Given the description of an element on the screen output the (x, y) to click on. 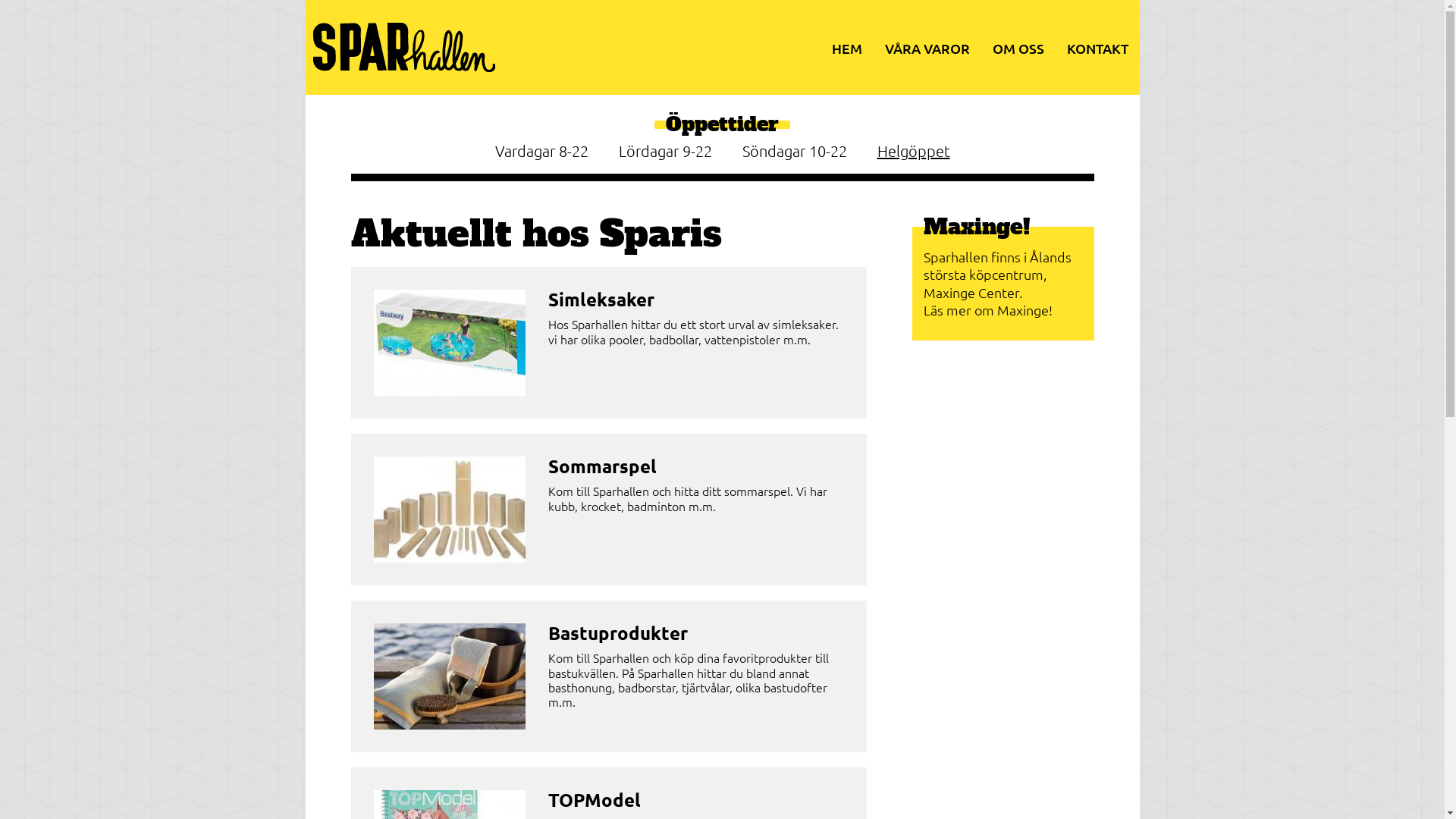
Maxinge! Element type: text (1023, 309)
Hemsida Element type: hover (403, 62)
OM OSS Element type: text (1017, 47)
Maxinge! Element type: text (976, 226)
KONTAKT Element type: text (1096, 47)
HEM Element type: text (846, 47)
Sparhallen Element type: text (324, 265)
